Given the description of an element on the screen output the (x, y) to click on. 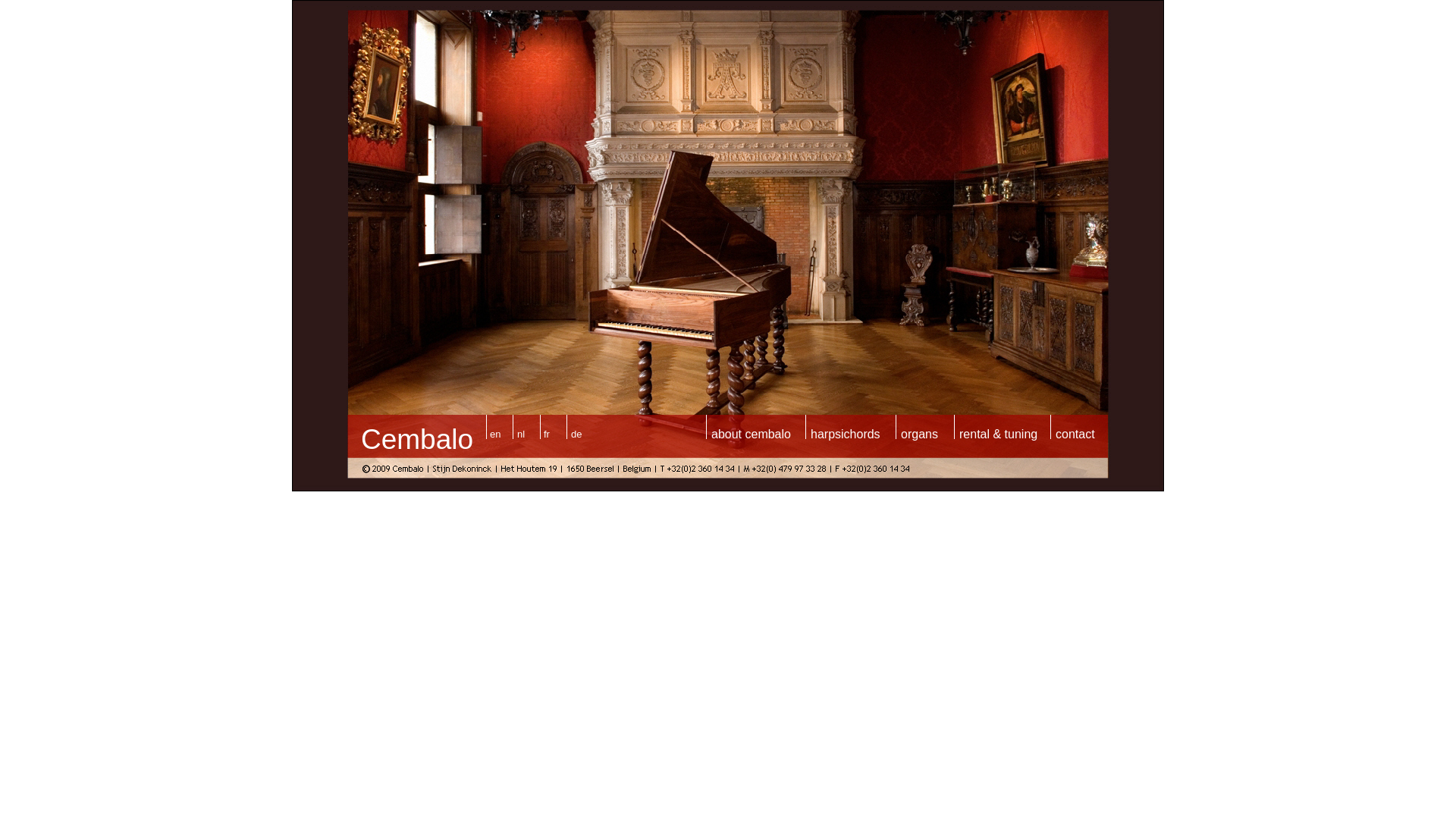
fr Element type: text (546, 433)
organs Element type: text (919, 433)
about cembalo Element type: text (750, 433)
Cembal Element type: text (409, 439)
contact Element type: text (1075, 433)
nl Element type: text (520, 433)
rental & tuning Element type: text (998, 433)
harpsichords Element type: text (845, 433)
en Element type: text (494, 433)
de Element type: text (576, 433)
